Given the description of an element on the screen output the (x, y) to click on. 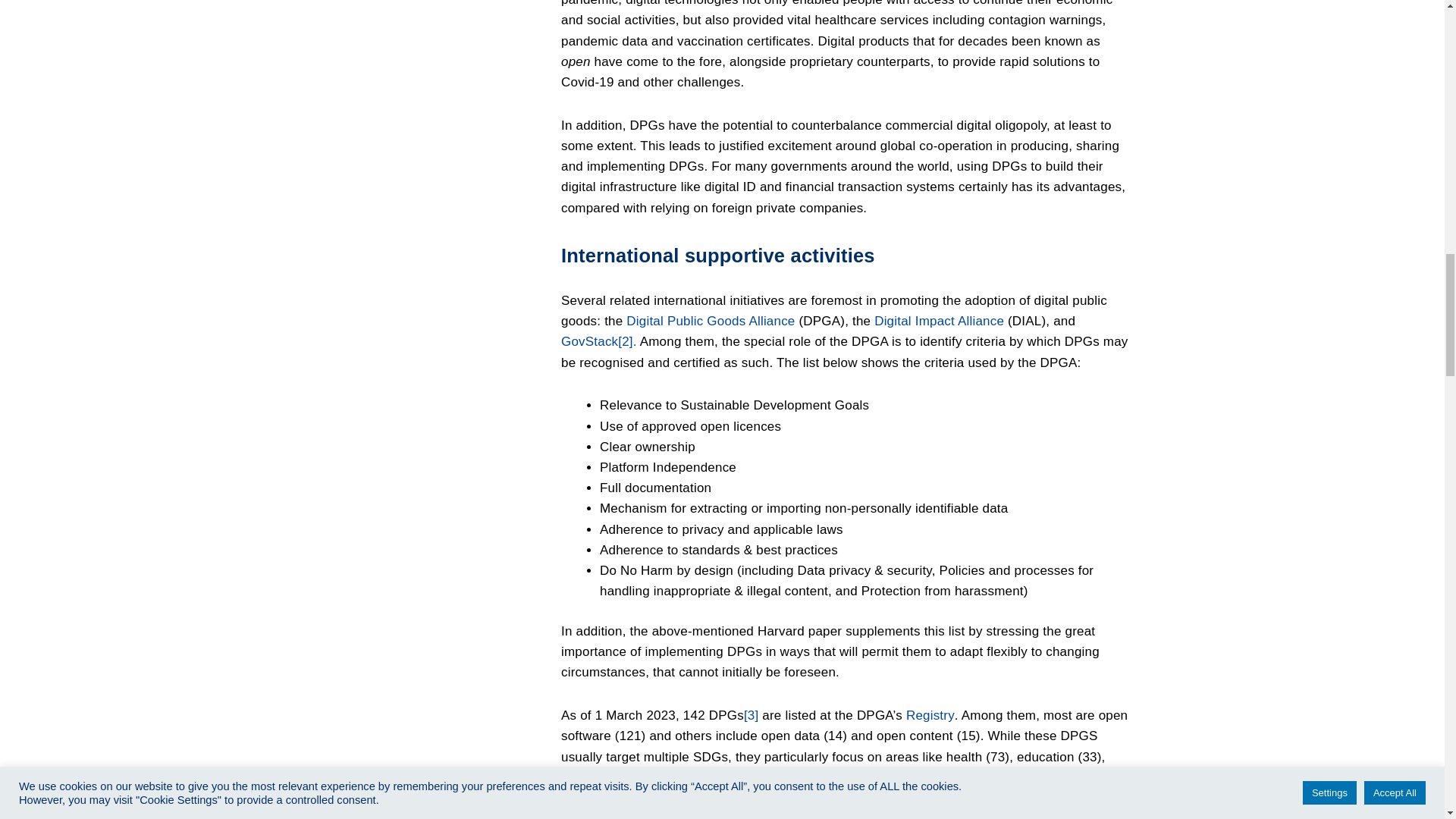
Digital Public Goods Alliance (710, 320)
Digital Impact Alliance (939, 320)
Registry (930, 715)
GovStack (588, 341)
